Given the description of an element on the screen output the (x, y) to click on. 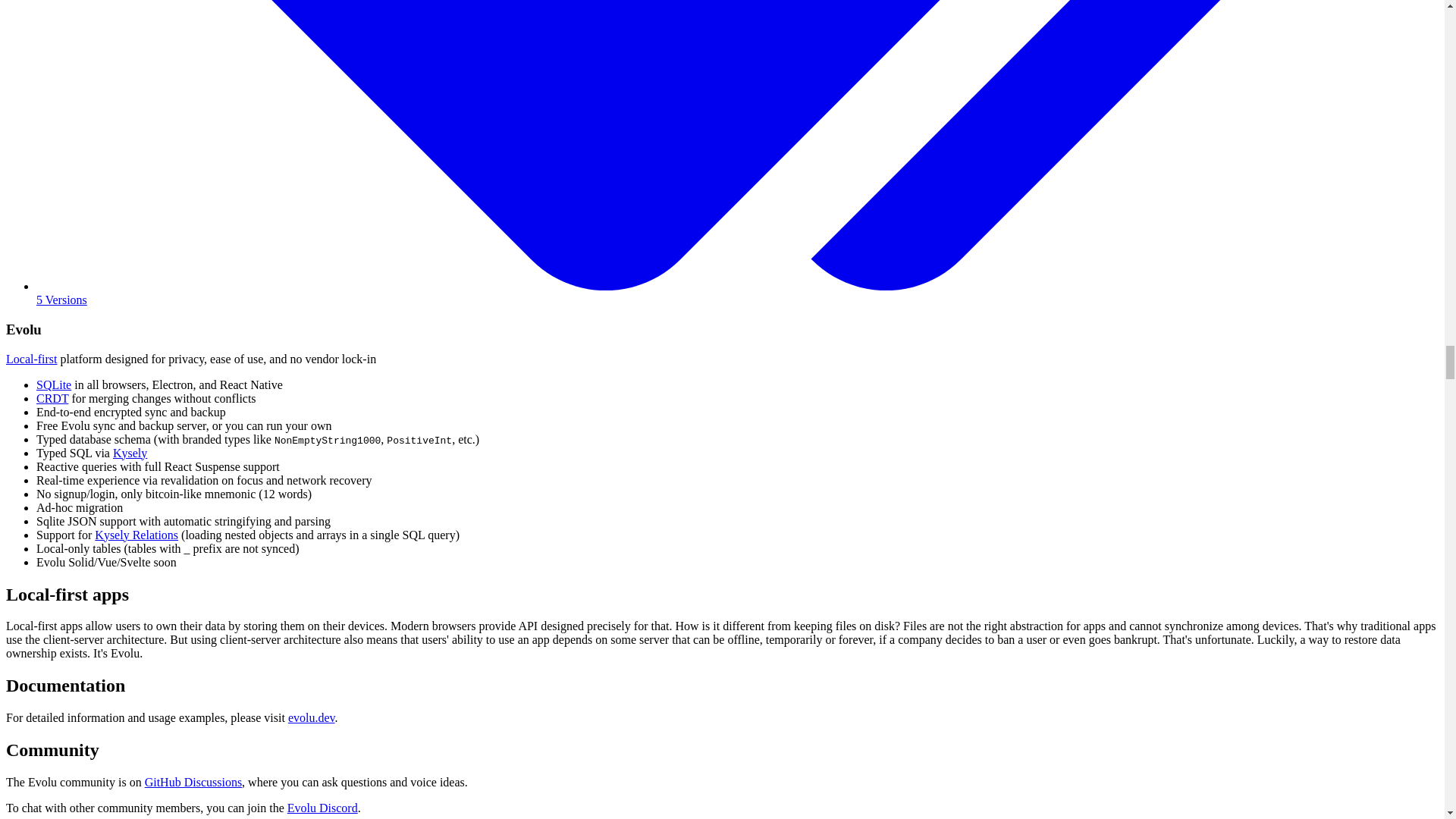
GitHub Discussions (192, 781)
CRDT (52, 398)
SQLite (53, 384)
evolu.dev (311, 717)
Kysely Relations (135, 534)
Kysely (130, 452)
Evolu Discord (322, 807)
Local-first (31, 358)
